Given the description of an element on the screen output the (x, y) to click on. 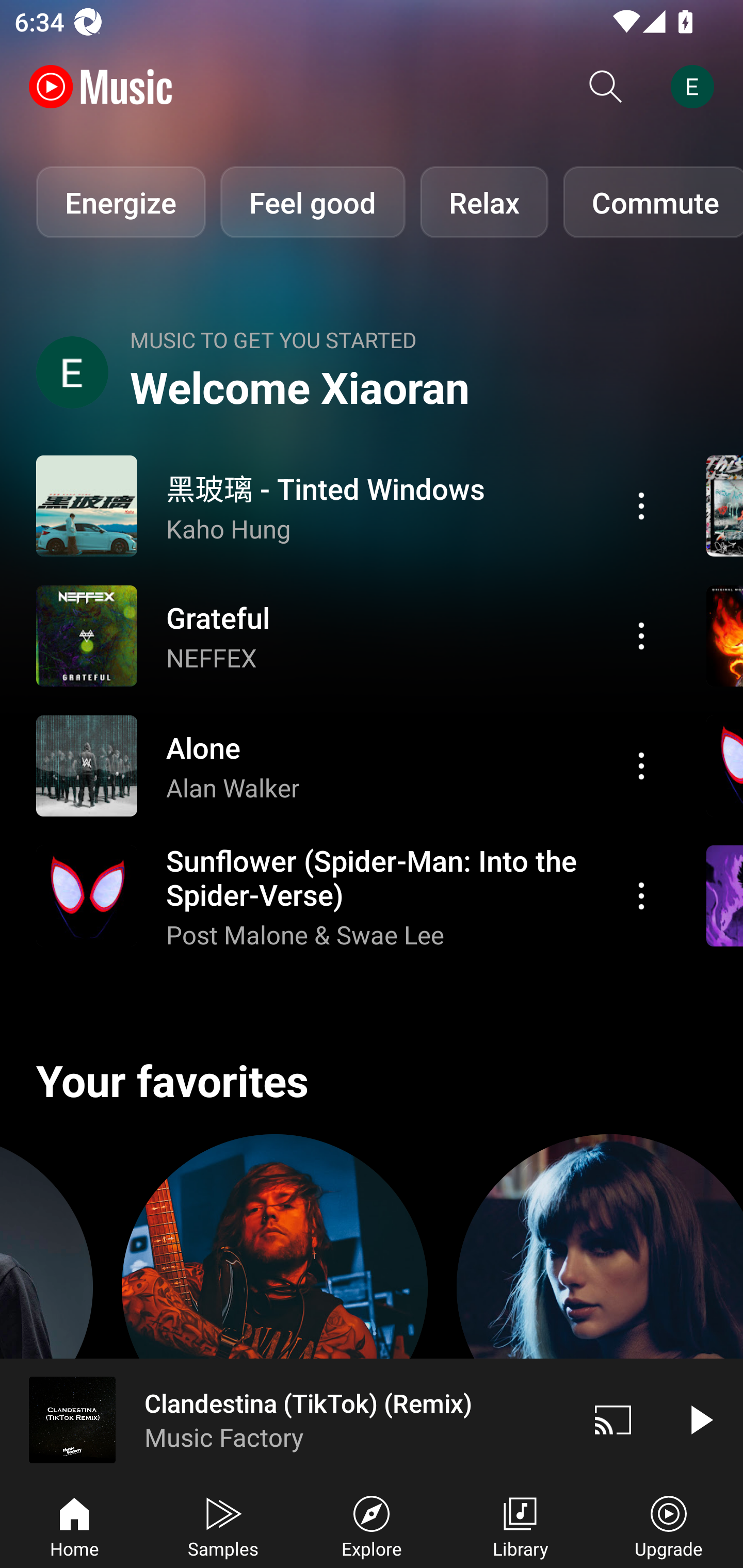
Search (605, 86)
Account (696, 86)
Action menu (349, 505)
Action menu (641, 505)
Action menu (349, 635)
Action menu (641, 635)
Action menu (349, 765)
Action menu (641, 765)
Action menu (349, 896)
Action menu (641, 896)
Clandestina (TikTok) (Remix) Music Factory (284, 1419)
Cast. Disconnected (612, 1419)
Play video (699, 1419)
Home (74, 1524)
Samples (222, 1524)
Explore (371, 1524)
Library (519, 1524)
Upgrade (668, 1524)
